Given the description of an element on the screen output the (x, y) to click on. 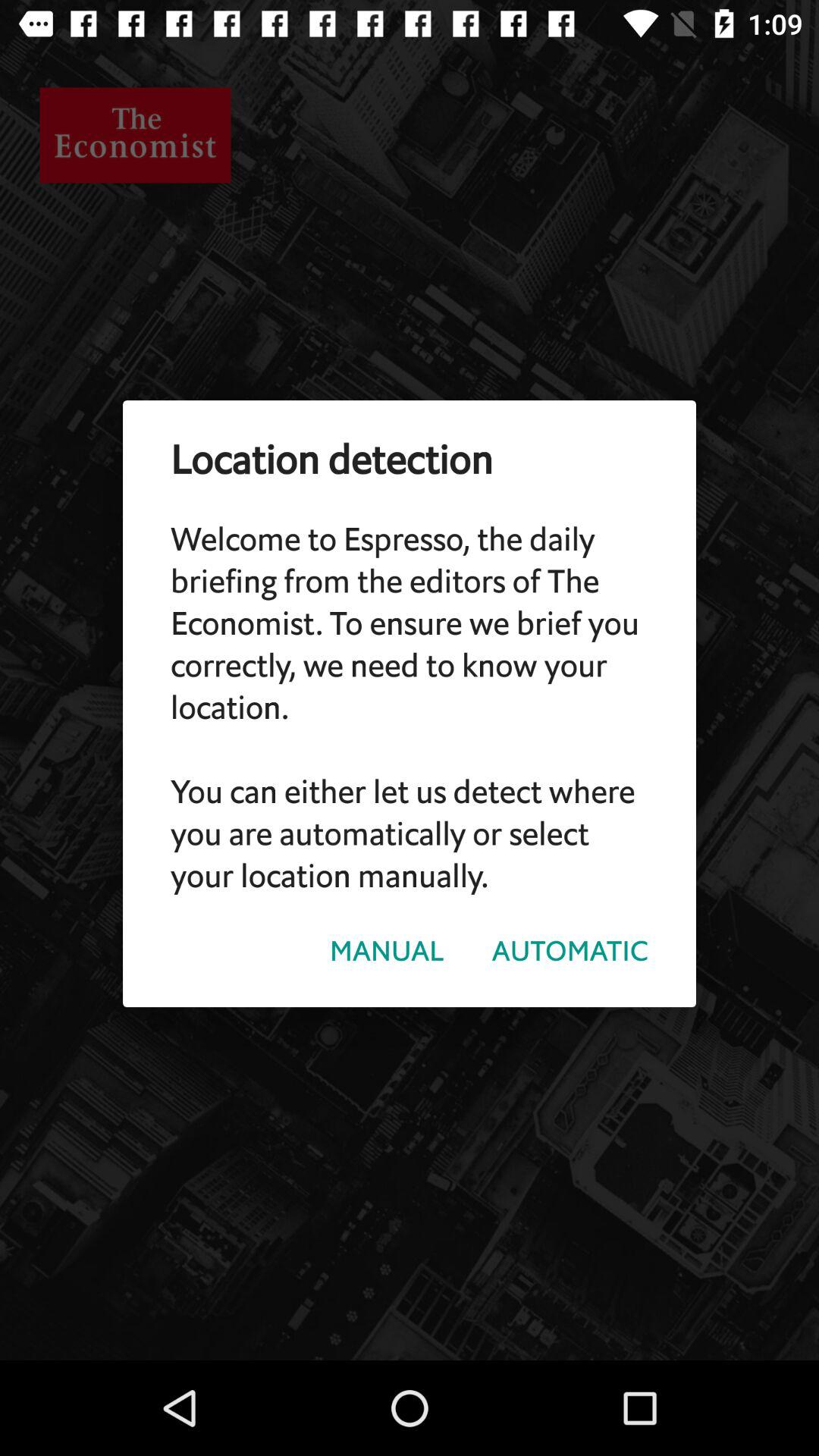
select icon to the right of manual button (570, 951)
